Given the description of an element on the screen output the (x, y) to click on. 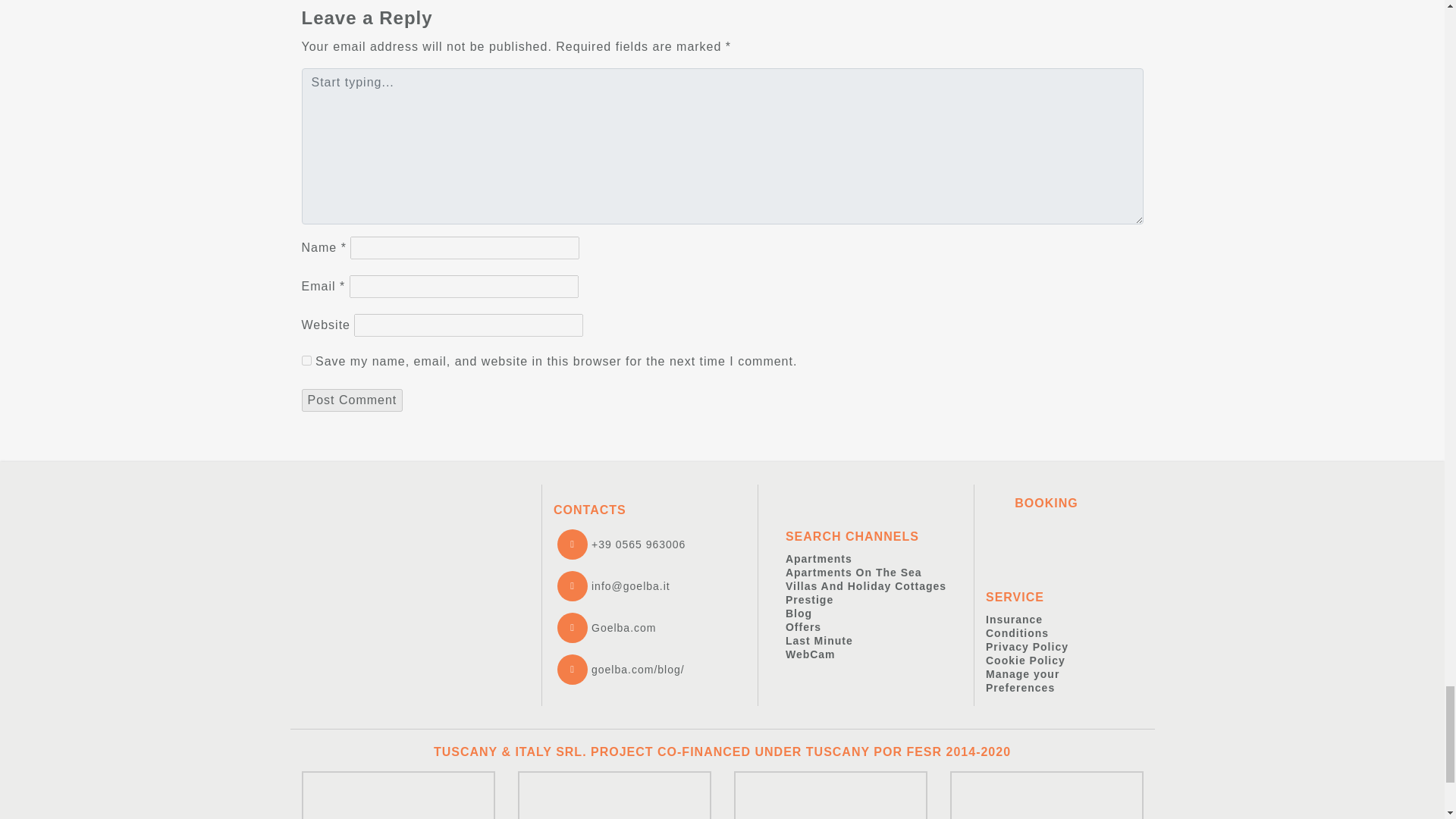
Telefono (620, 544)
Facebook (606, 628)
Post Comment (352, 400)
Email (613, 586)
yes (306, 360)
